Given the description of an element on the screen output the (x, y) to click on. 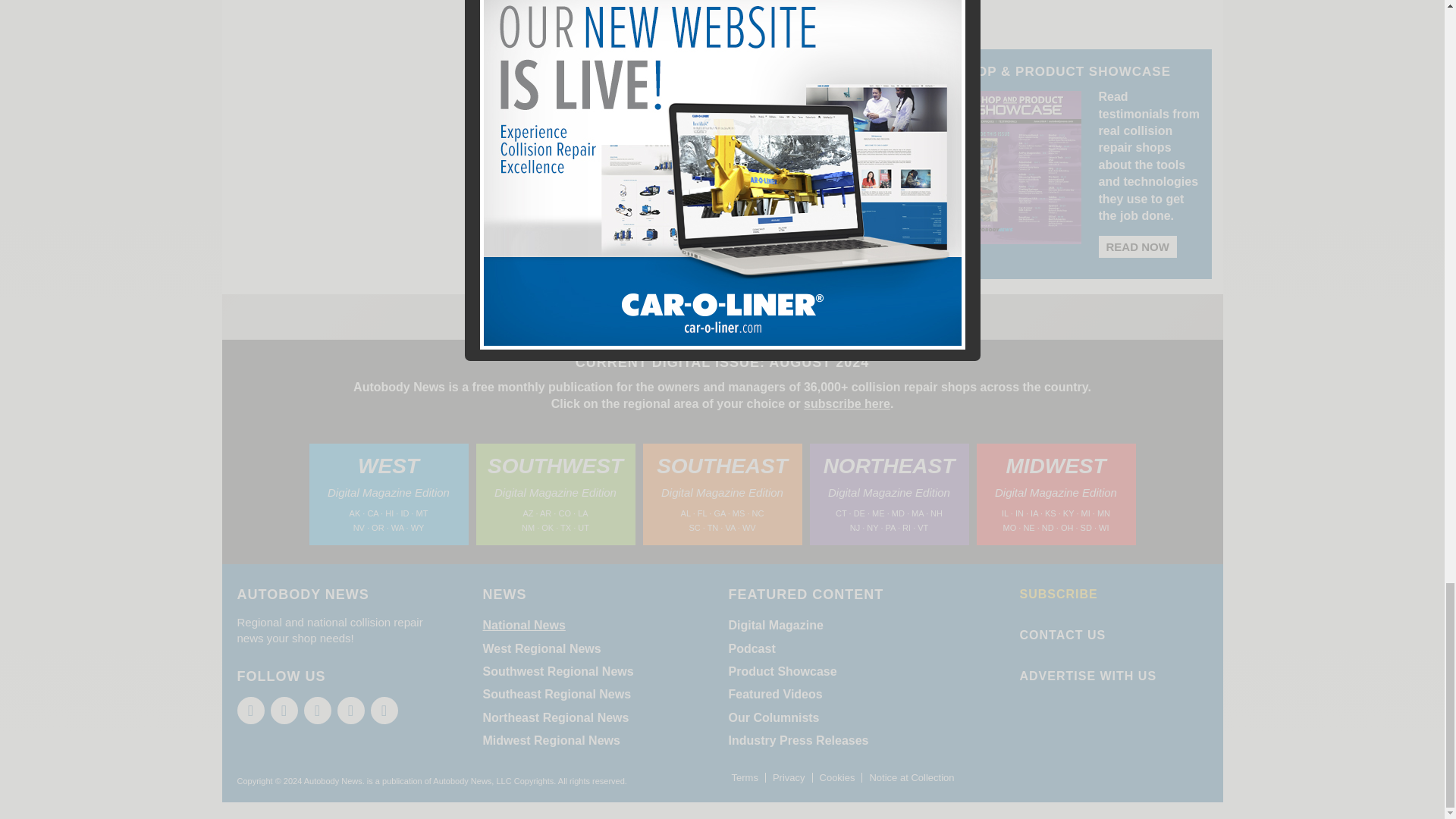
3rd party ad content (1074, 4)
